Given the description of an element on the screen output the (x, y) to click on. 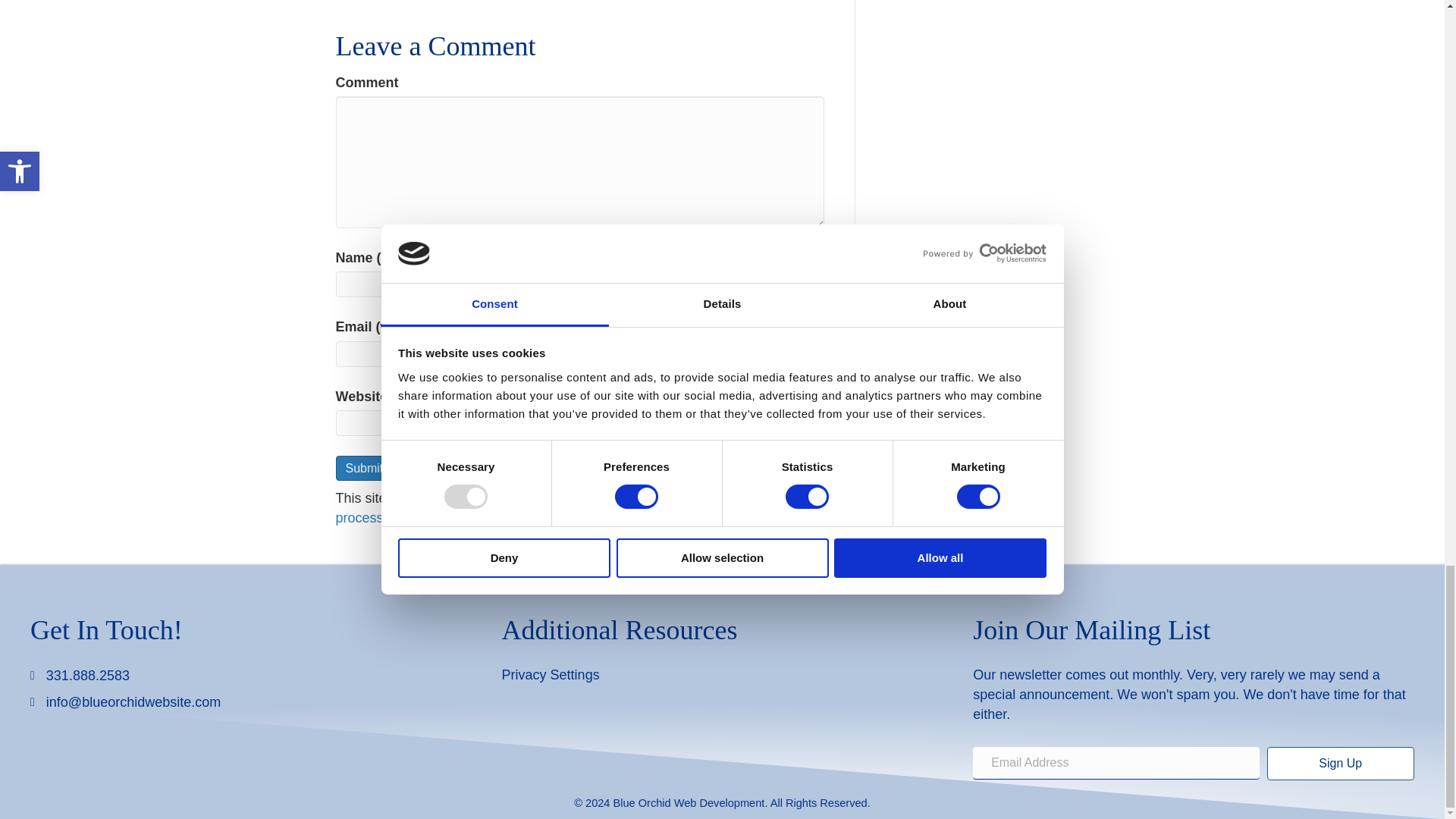
Submit Comment (391, 467)
